Given the description of an element on the screen output the (x, y) to click on. 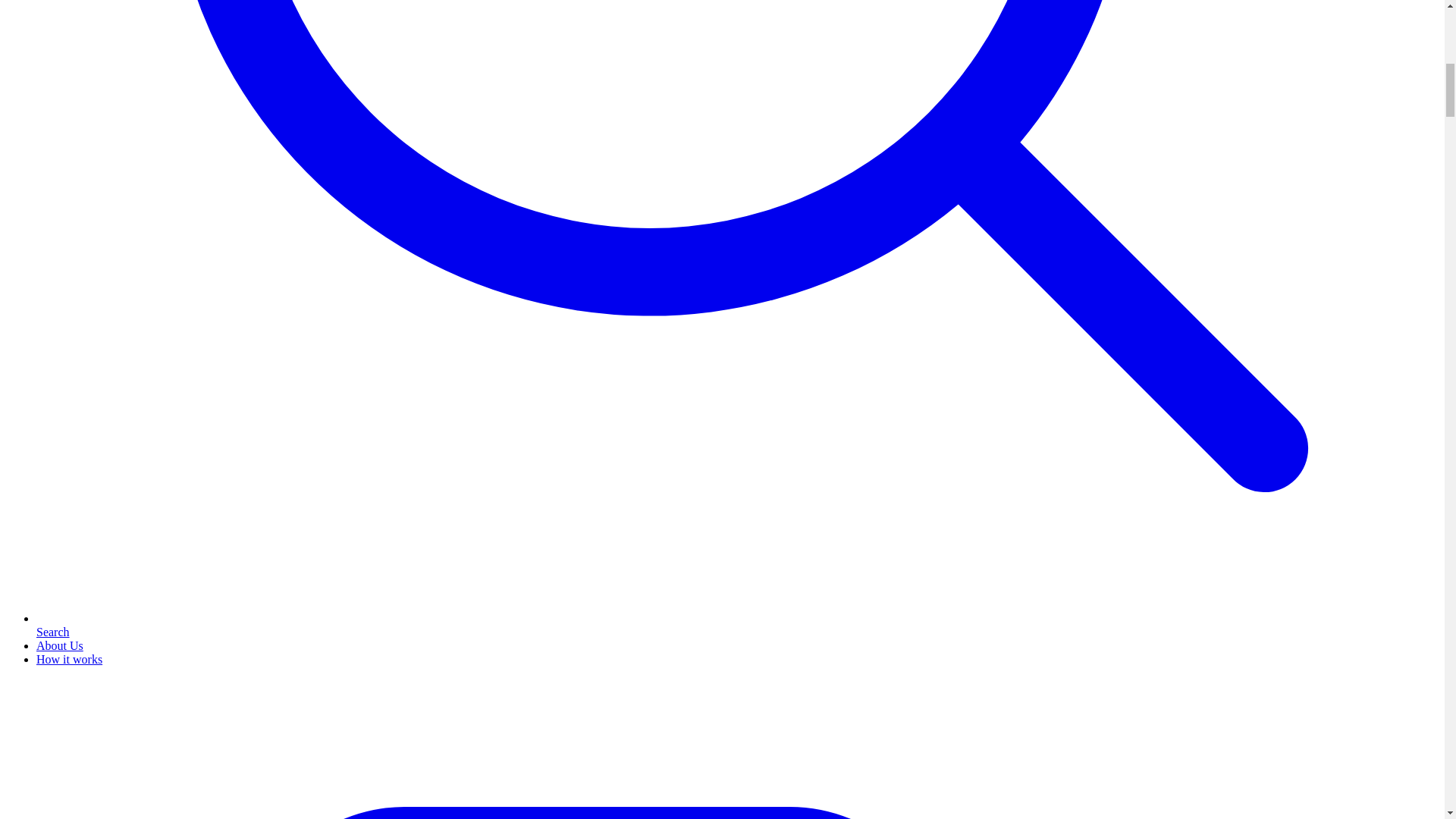
About Us (59, 645)
How it works (68, 658)
